Given the description of an element on the screen output the (x, y) to click on. 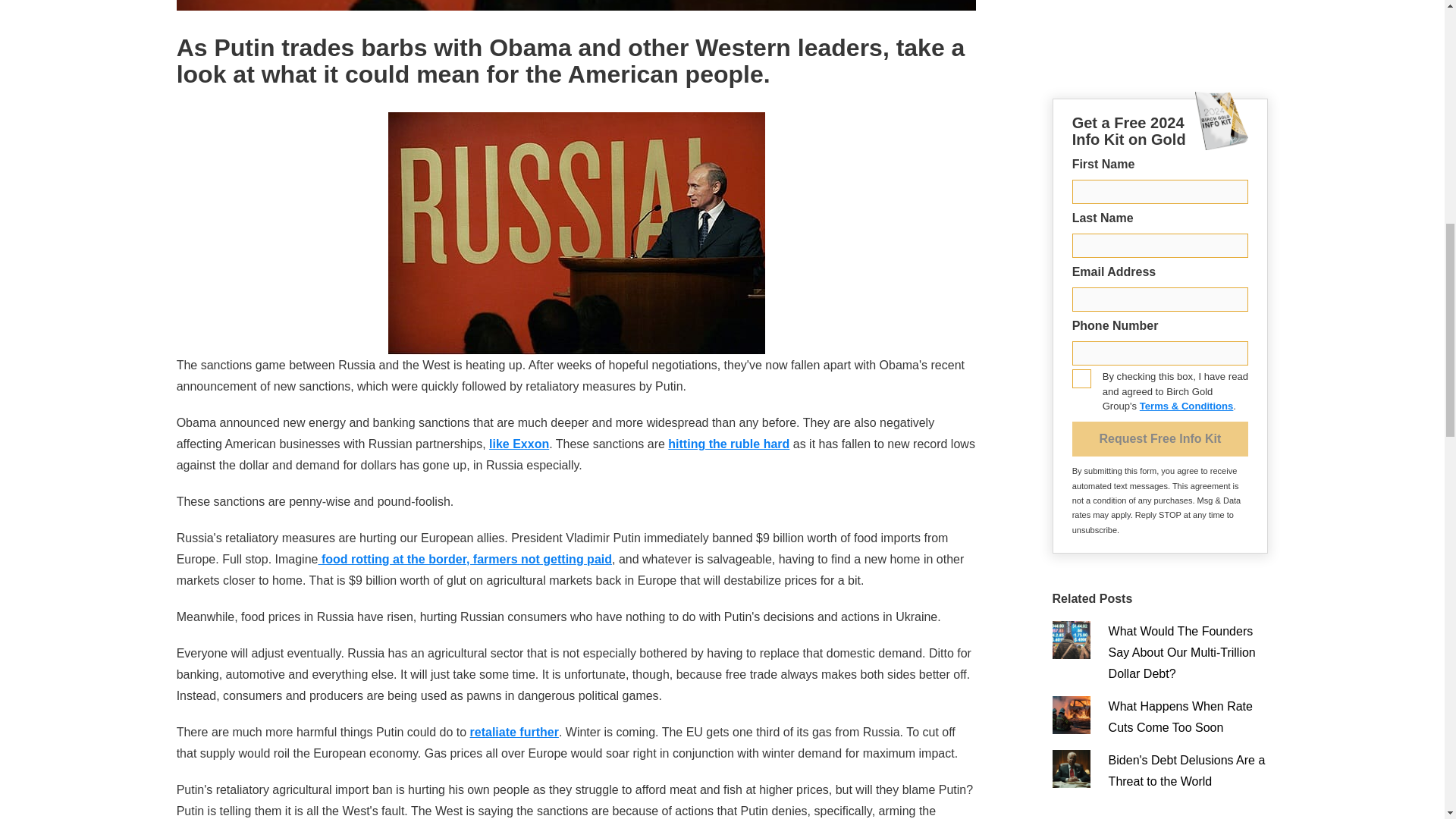
retaliate further (514, 731)
 like Exxon (518, 443)
hitting the ruble hard (728, 443)
food rotting at the border, farmers not getting paid (464, 558)
